Given the description of an element on the screen output the (x, y) to click on. 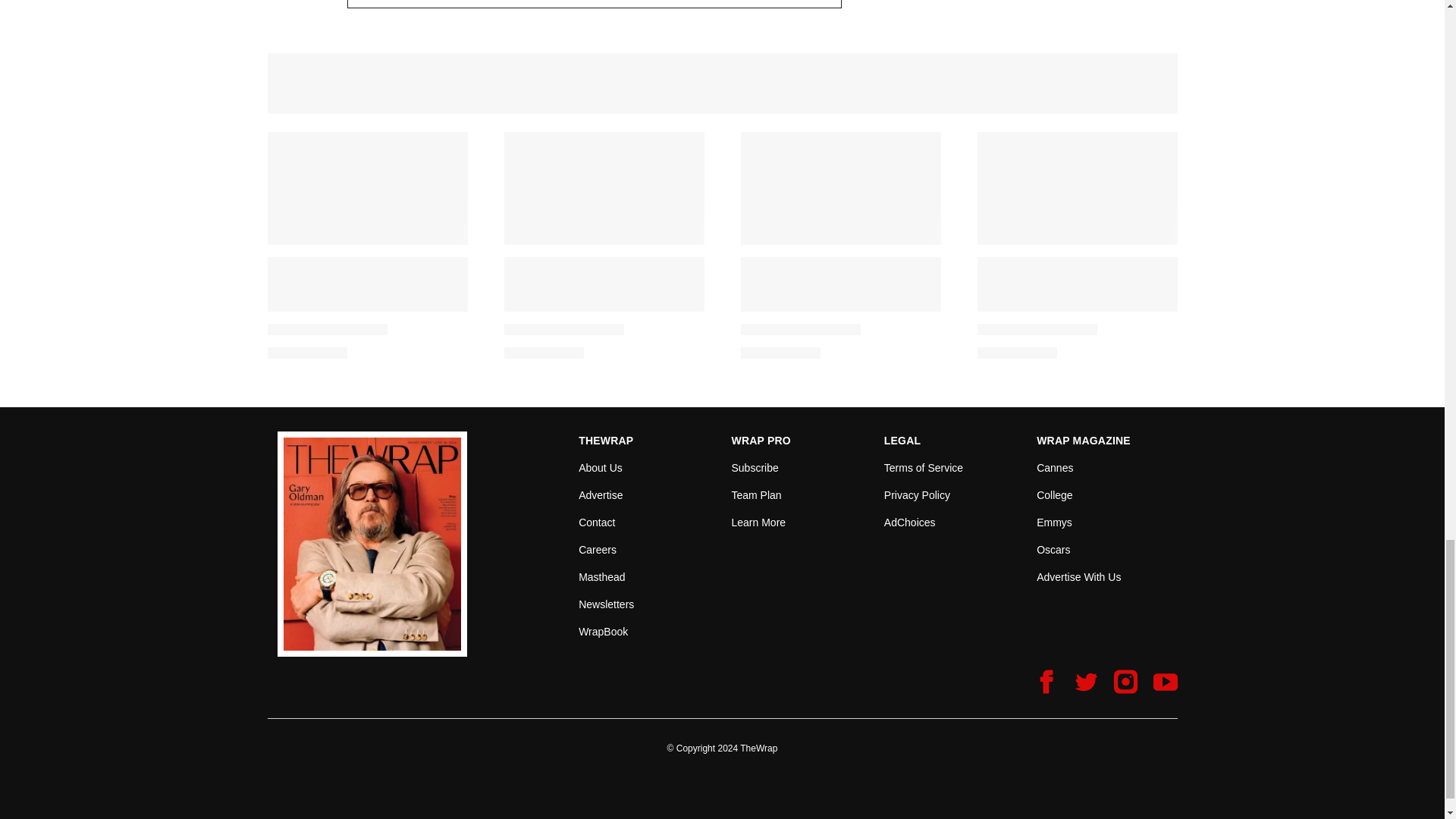
Learn more about becoming a member (758, 522)
